Given the description of an element on the screen output the (x, y) to click on. 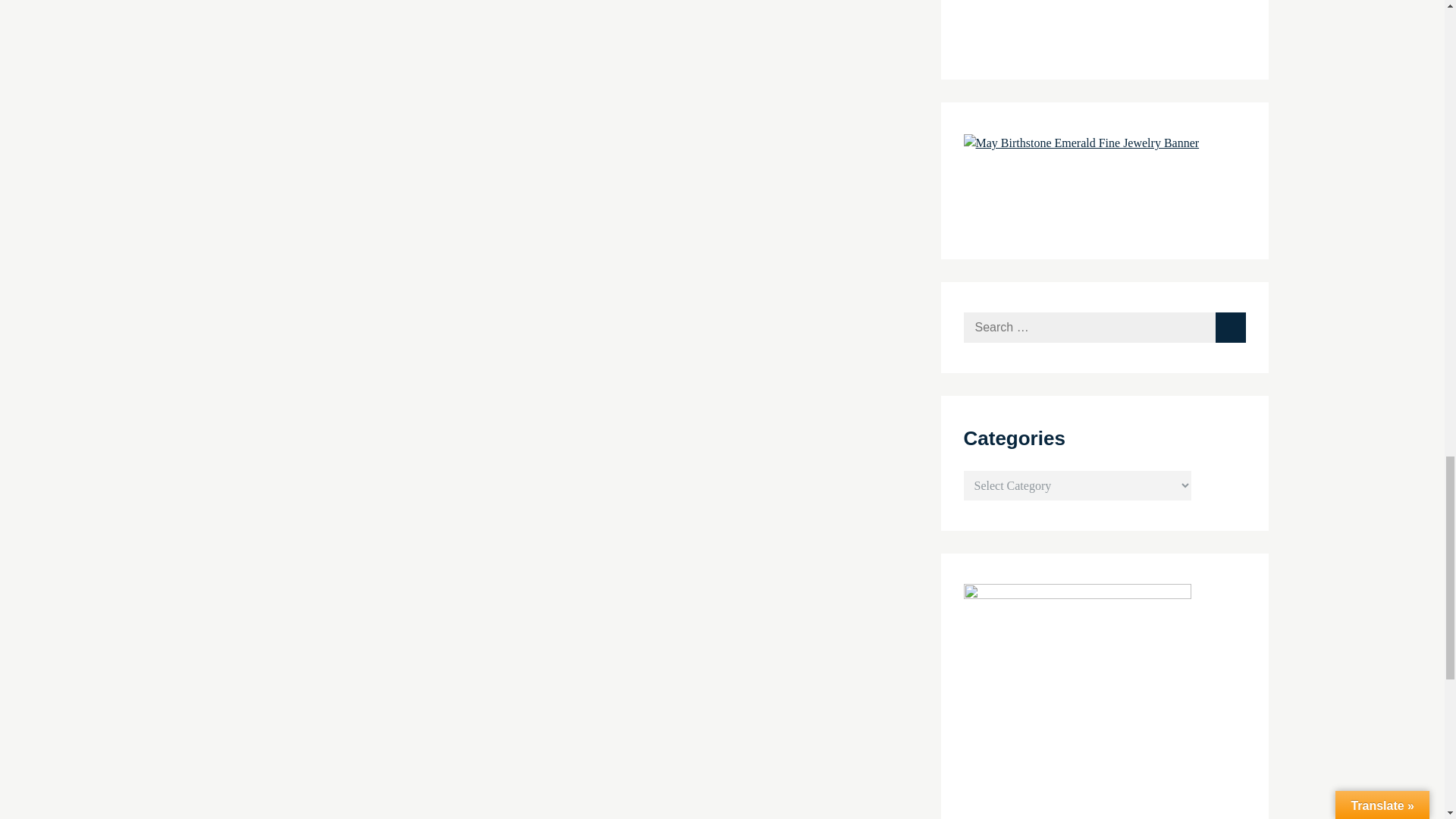
Search (1229, 327)
